Given the description of an element on the screen output the (x, y) to click on. 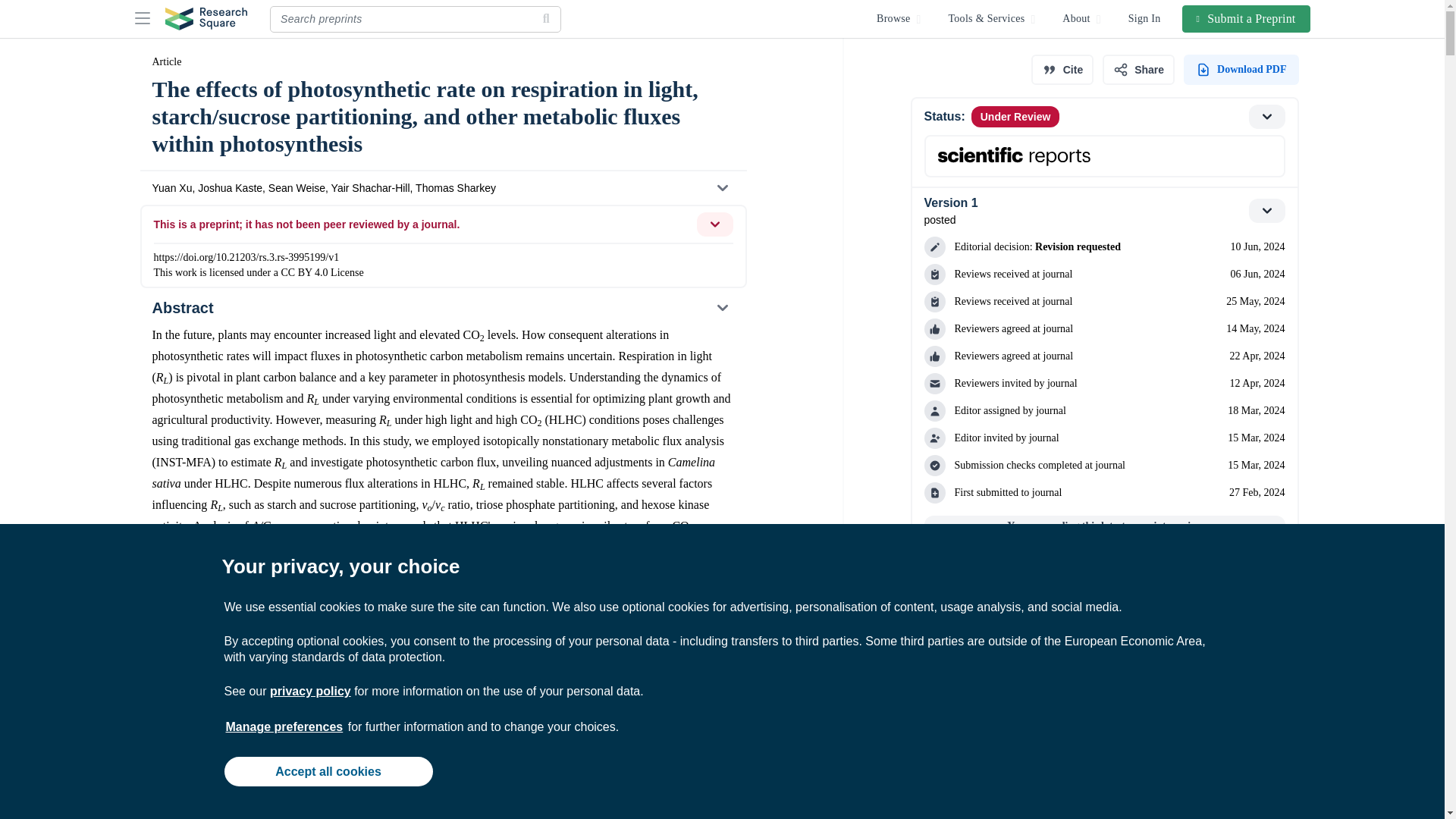
Sign In (1144, 18)
Figures (442, 693)
Abstract (442, 307)
Manage preferences (284, 726)
Submit a Preprint (1246, 18)
privacy policy (309, 690)
Accept all cookies (328, 771)
